Given the description of an element on the screen output the (x, y) to click on. 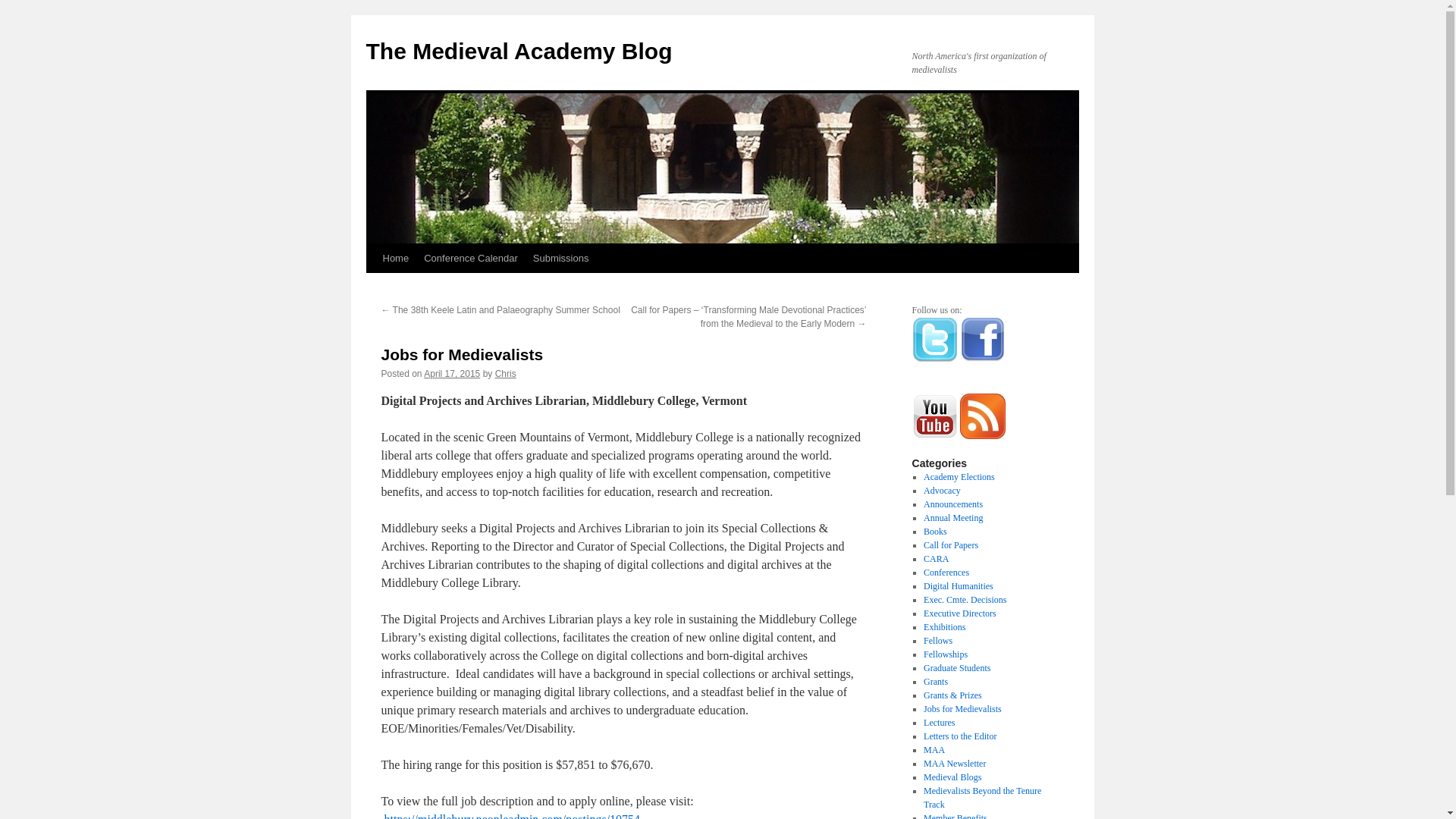
Conferences (946, 572)
Home (395, 258)
Exhibitions (944, 626)
Jobs for Medievalists (962, 708)
Conference Calendar (470, 258)
Call for Papers (950, 544)
Advocacy (941, 490)
Announcements (952, 503)
Annual Meeting (952, 517)
The Medieval Academy Blog (518, 50)
